Given the description of an element on the screen output the (x, y) to click on. 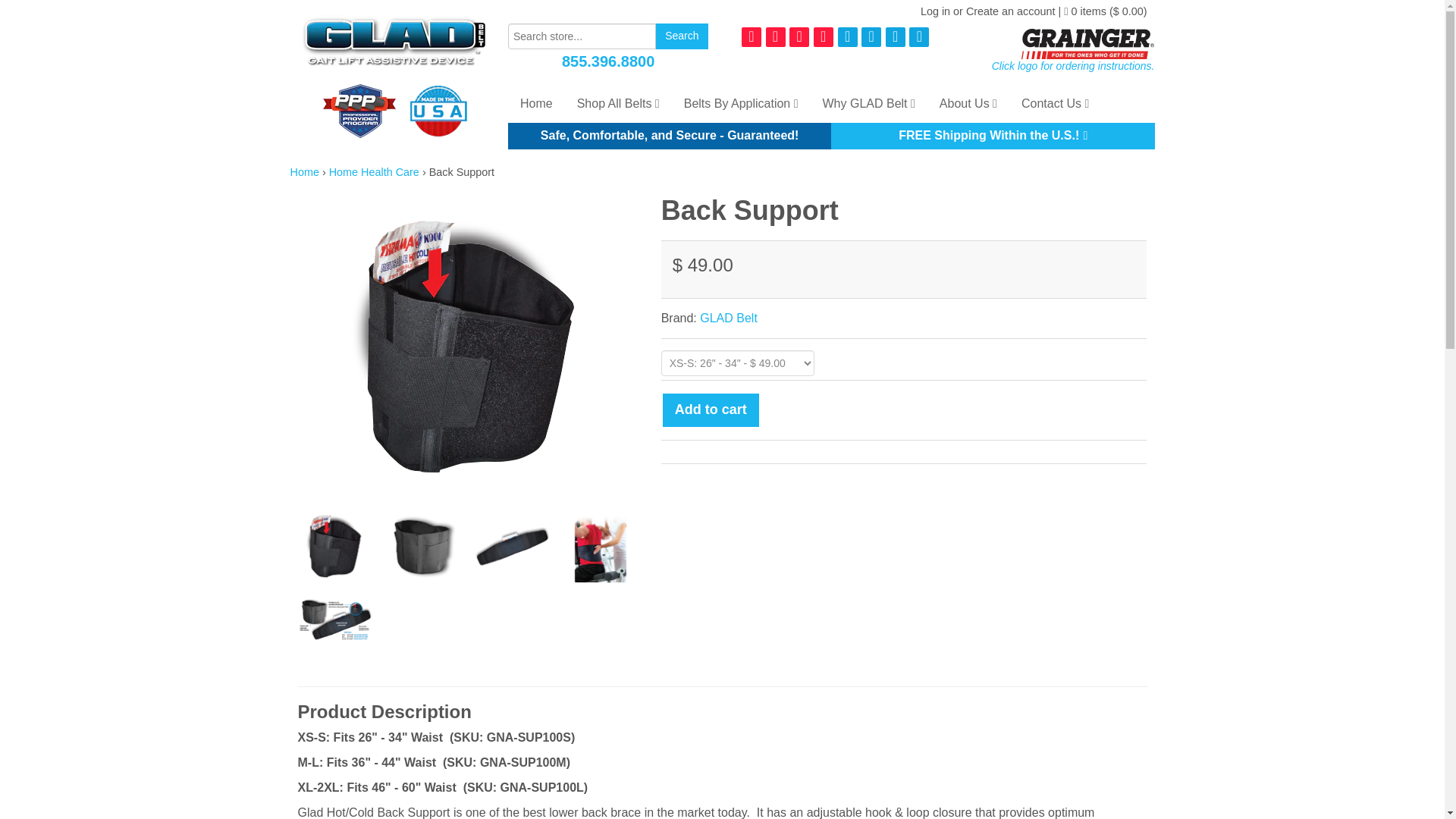
About Us (968, 104)
Create an account (1010, 10)
Click logo for ordering instructions. (1053, 64)
Home (536, 104)
Add to cart (710, 410)
Follow GnR Powersports on Facebook (751, 36)
Search (681, 36)
Why GLAD Belt (868, 104)
Log in (935, 10)
Follow GnR Powersports on YouTube (822, 36)
Follow GladBelt on YouTube (918, 36)
Follow GladBelt on Instagram (895, 36)
Follow GladBelt on Twitter (870, 36)
Follow GnR Powersports on Twitter (775, 36)
Belts By Application (740, 104)
